Given the description of an element on the screen output the (x, y) to click on. 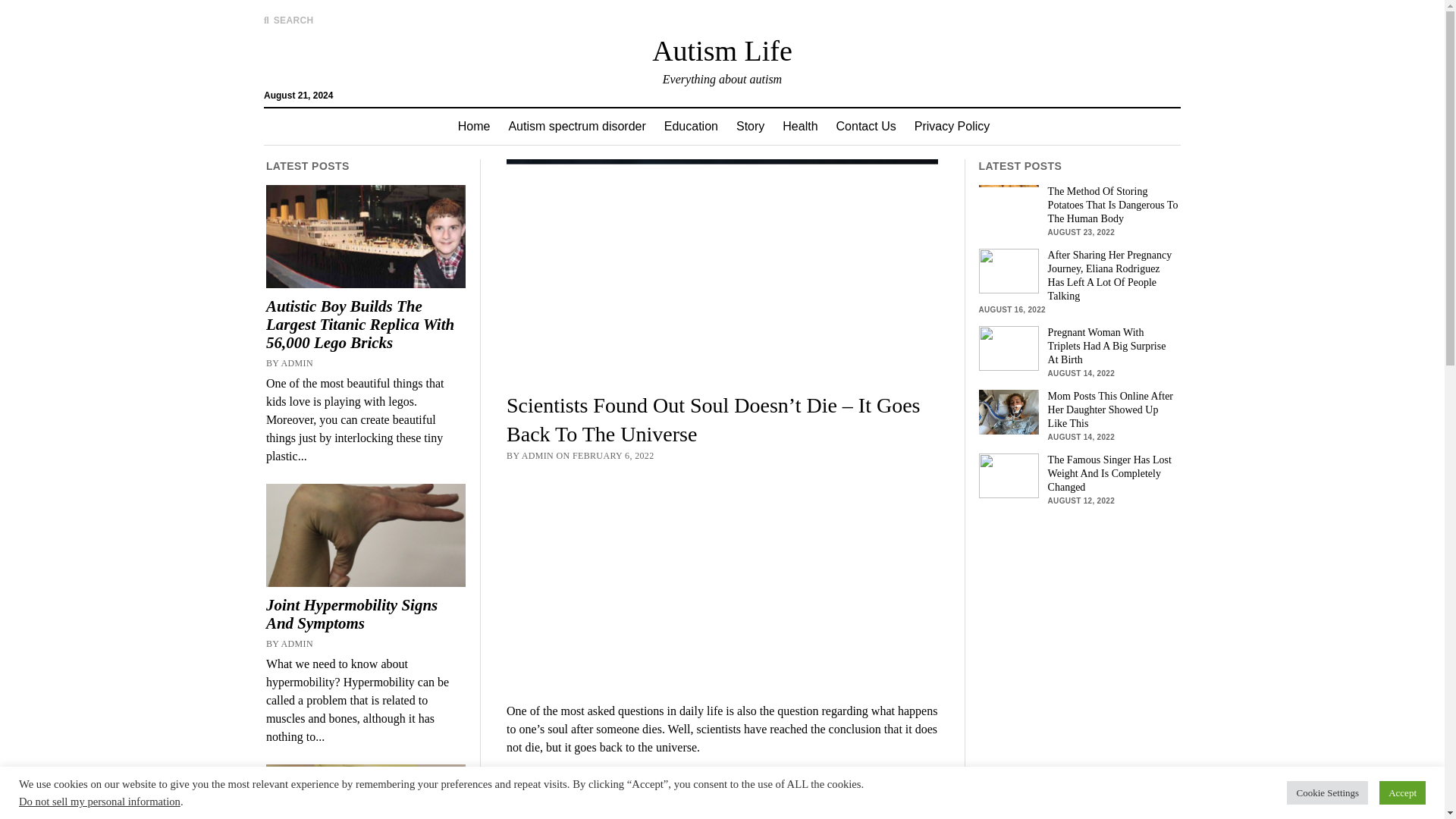
Health (800, 126)
Story (749, 126)
Cookie Settings (1327, 792)
The Famous Singer Has Lost Weight And Is Completely Changed (1078, 473)
Home (473, 126)
Contact Us (866, 126)
Pregnant Woman With Triplets Had A Big Surprise At Birth (1078, 345)
Do not sell my personal information (99, 801)
